Given the description of an element on the screen output the (x, y) to click on. 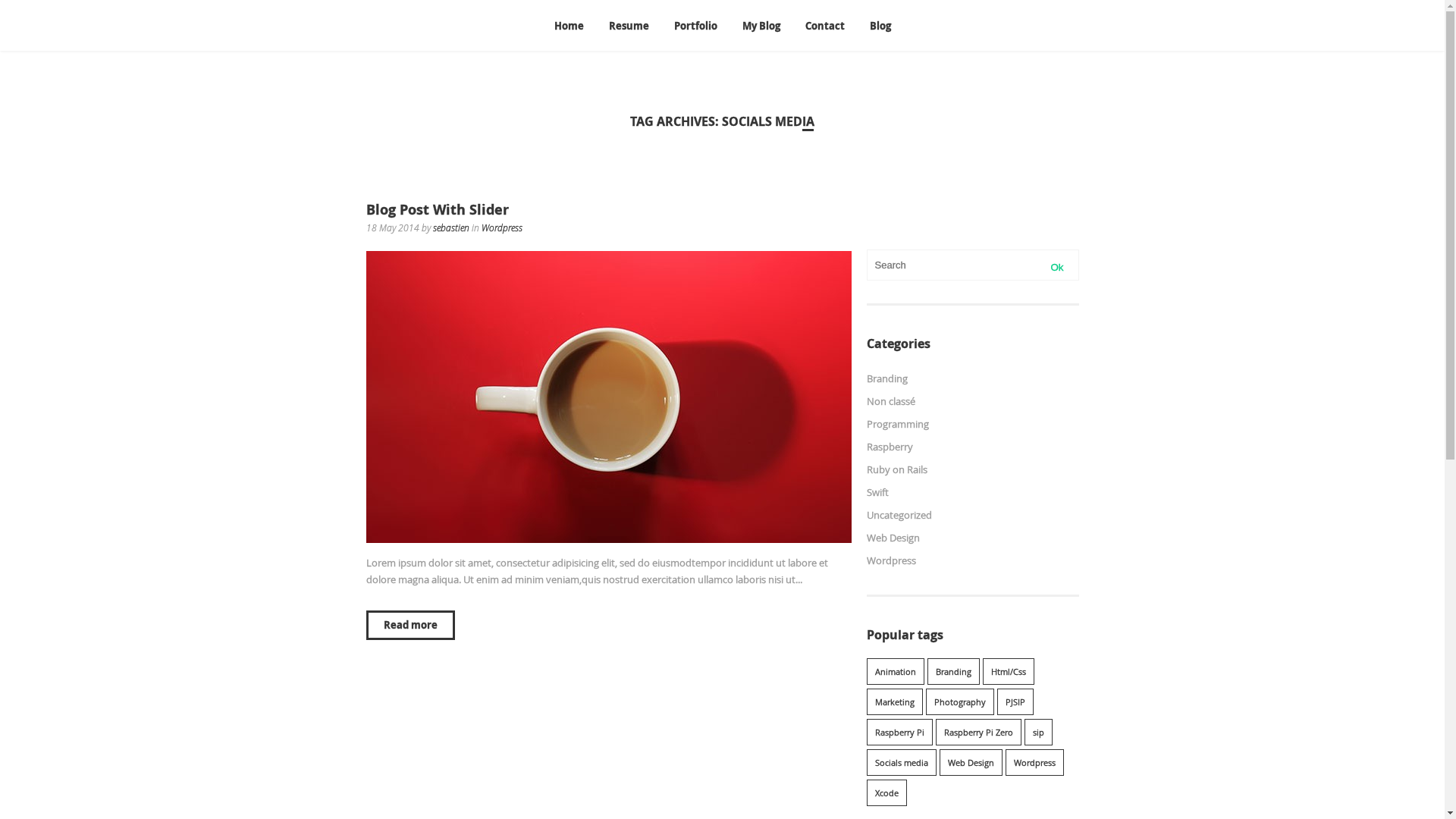
Html/Css Element type: text (1008, 671)
PJSIP Element type: text (1014, 701)
Raspberry Pi Element type: text (898, 731)
Socials media Element type: text (900, 762)
Animation Element type: text (894, 671)
Uncategorized Element type: text (898, 514)
Wordpress Element type: text (1034, 762)
Swift Element type: text (877, 491)
sip Element type: text (1037, 731)
Photography Element type: text (959, 701)
My Blog Element type: text (761, 25)
Wordpress Element type: text (500, 227)
Blog Element type: text (880, 25)
Wordpress Element type: text (890, 560)
sebastien Element type: text (450, 227)
Raspberry Pi Zero Element type: text (978, 731)
Read more Element type: text (410, 624)
Blog Post With Slider Element type: text (436, 209)
Marketing Element type: text (894, 701)
Contact Element type: text (824, 25)
Resume Element type: text (628, 25)
Web Design Element type: text (969, 762)
Branding Element type: text (886, 378)
Ruby on Rails Element type: text (896, 469)
Programming Element type: text (897, 423)
Web Design Element type: text (892, 537)
Raspberry Element type: text (889, 446)
Ok Element type: text (1056, 266)
Xcode Element type: text (886, 792)
Home Element type: text (568, 25)
Portfolio Element type: text (695, 25)
Branding Element type: text (952, 671)
